Given the description of an element on the screen output the (x, y) to click on. 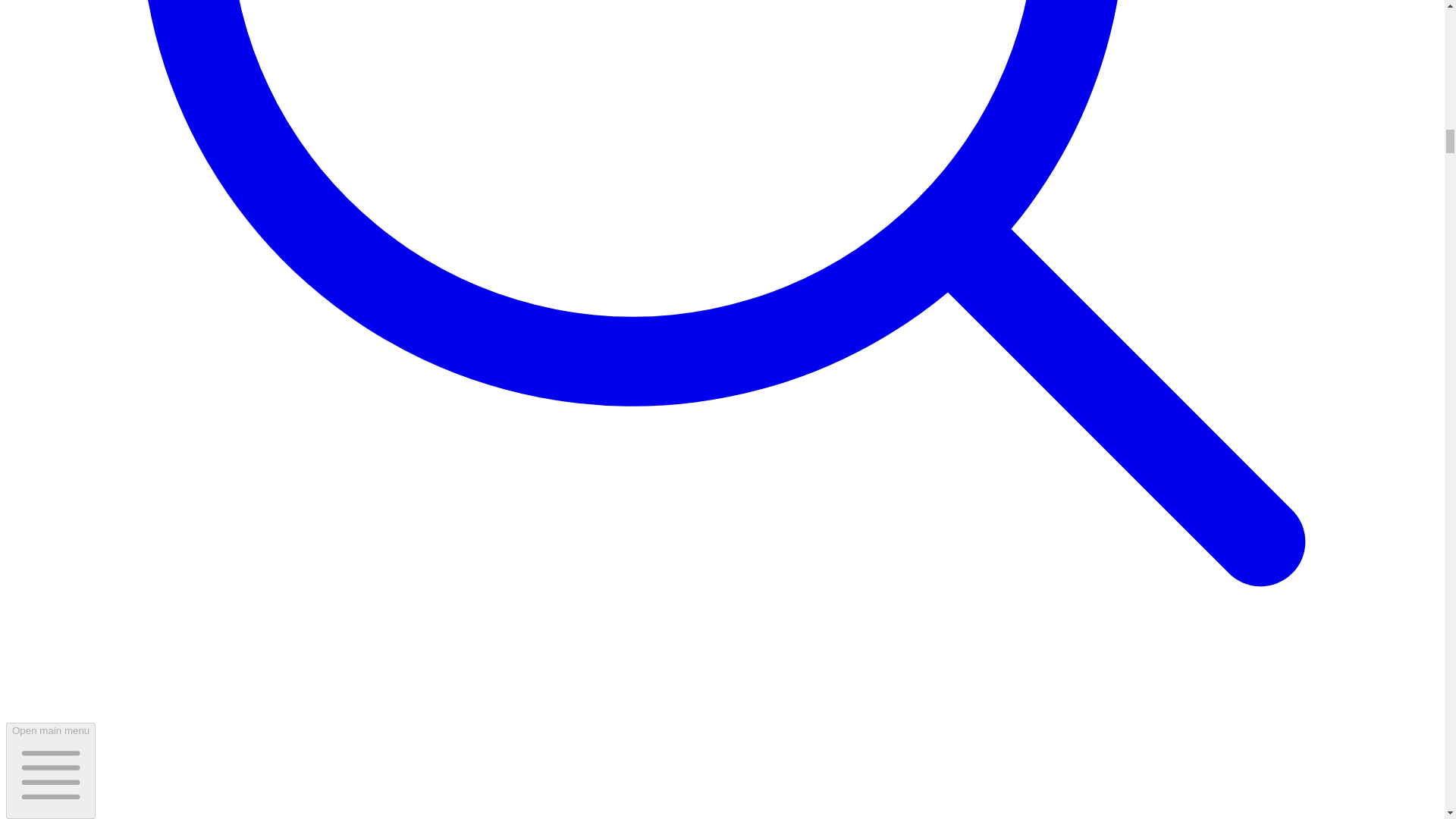
Open main menu (50, 770)
